Given the description of an element on the screen output the (x, y) to click on. 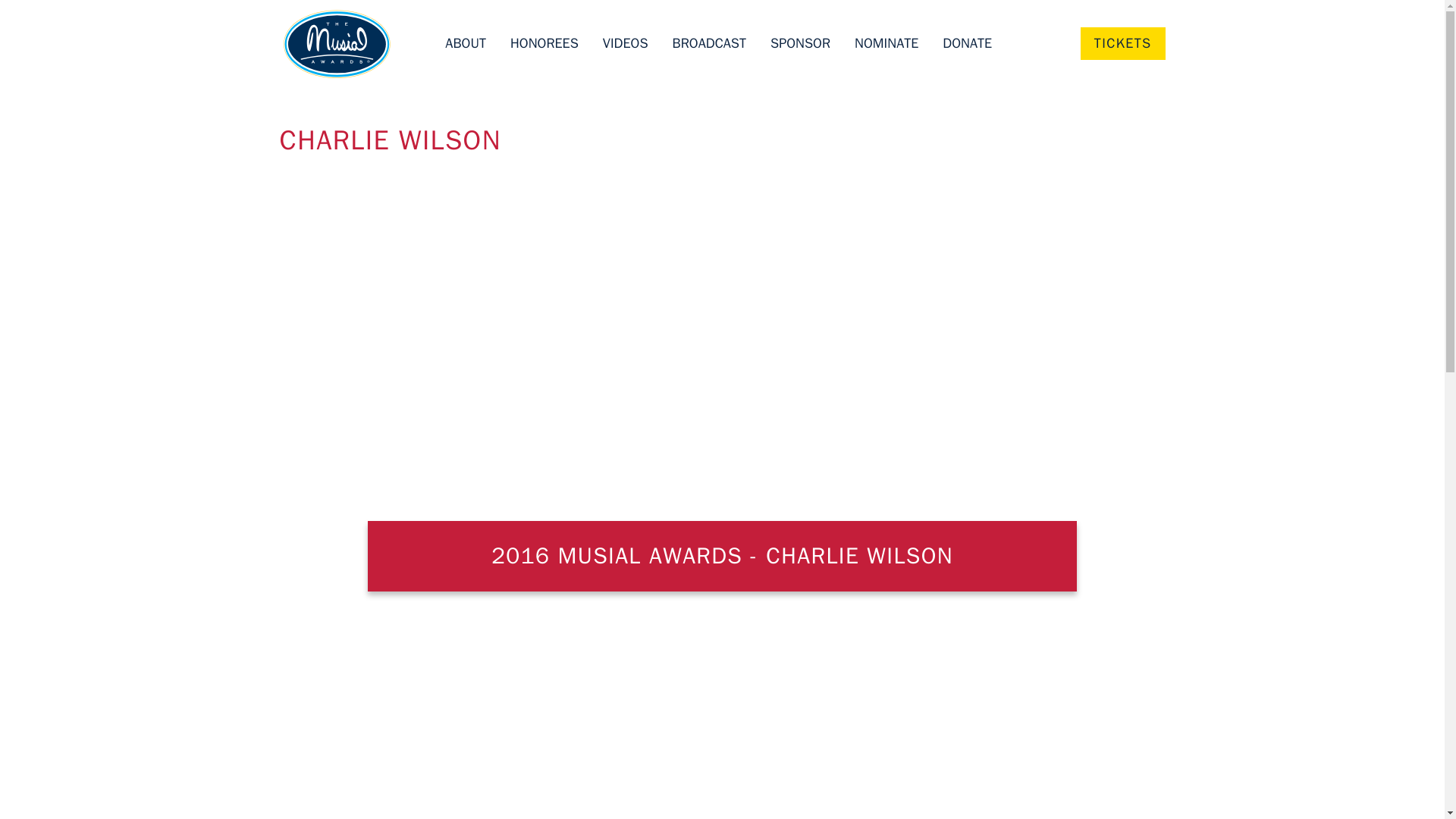
SPONSOR (799, 43)
TICKETS (1123, 43)
Donate (966, 43)
Honorees (544, 43)
Broadcast (708, 43)
2016 Musial Awards - Charlie Wilson (521, 378)
BROADCAST (708, 43)
DONATE (966, 43)
VIDEOS (624, 43)
Videos (624, 43)
